Given the description of an element on the screen output the (x, y) to click on. 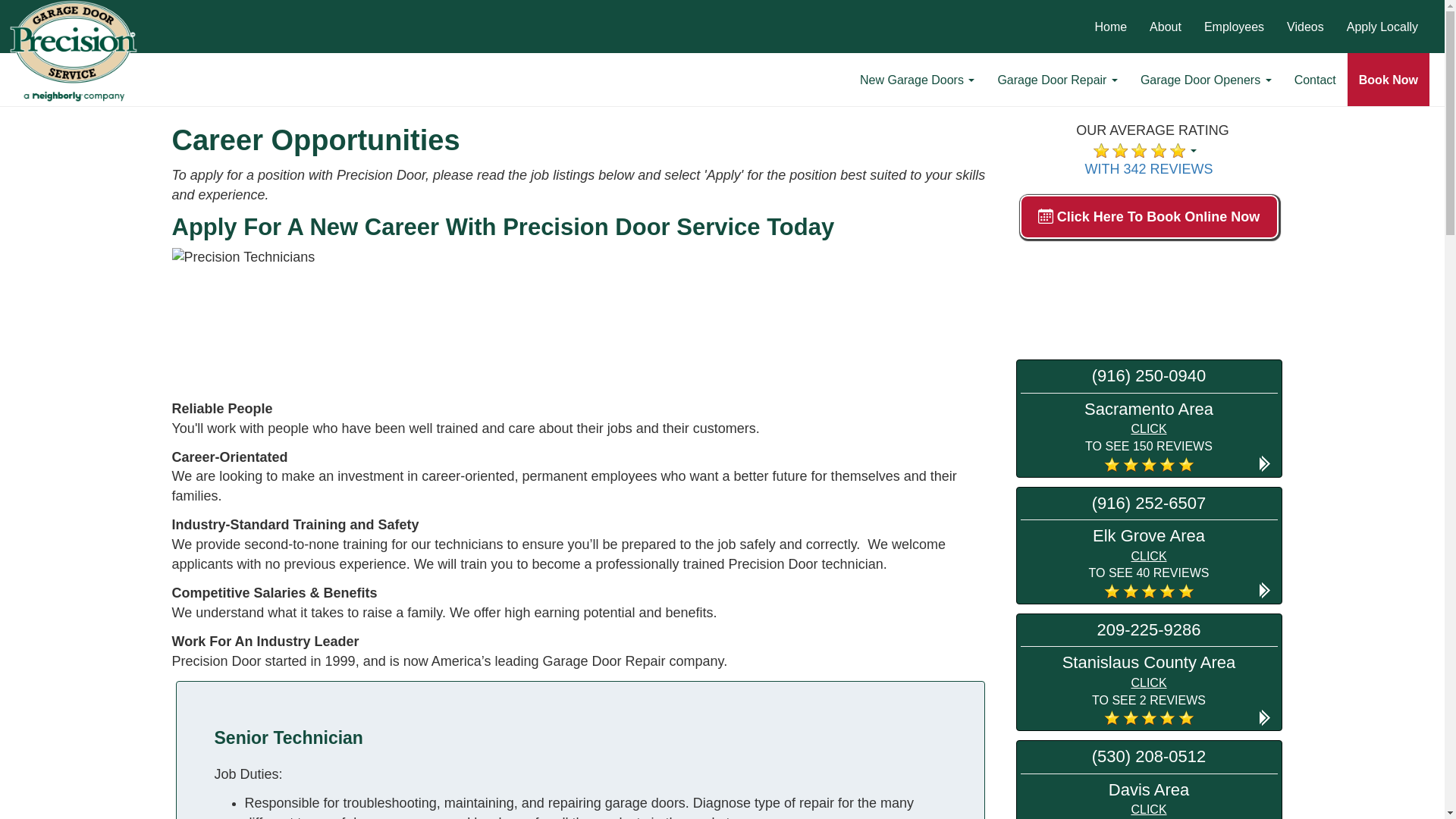
Home (1110, 26)
excellent (1130, 464)
Garage Door Openers (1205, 79)
New Garage Doors (916, 79)
excellent (1166, 590)
excellent (1185, 590)
excellent (1100, 150)
excellent (1166, 464)
Book Now (1388, 79)
Videos (1305, 26)
Apply Locally (1382, 26)
excellent (1148, 590)
excellent (1111, 464)
excellent (1177, 150)
excellent (1148, 464)
